Given the description of an element on the screen output the (x, y) to click on. 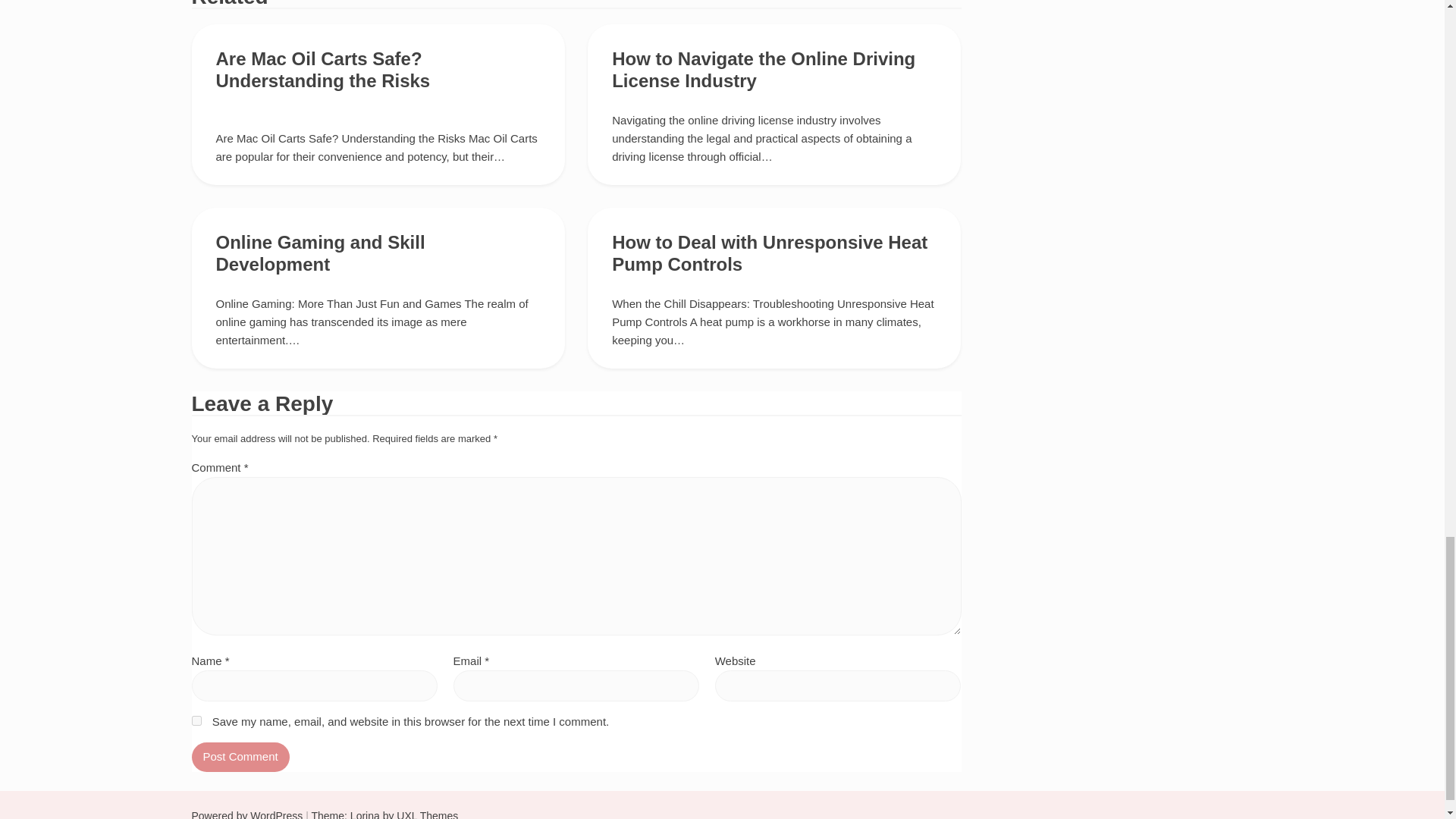
Online Gaming and Skill Development (320, 252)
Are Mac Oil Carts Safe? Understanding the Risks (322, 69)
How to Navigate the Online Driving License Industry (763, 69)
How to Deal with Unresponsive Heat Pump Controls (769, 252)
Lorina (365, 814)
Powered by WordPress (246, 814)
yes (195, 720)
Post Comment (239, 757)
Post Comment (239, 757)
